Given the description of an element on the screen output the (x, y) to click on. 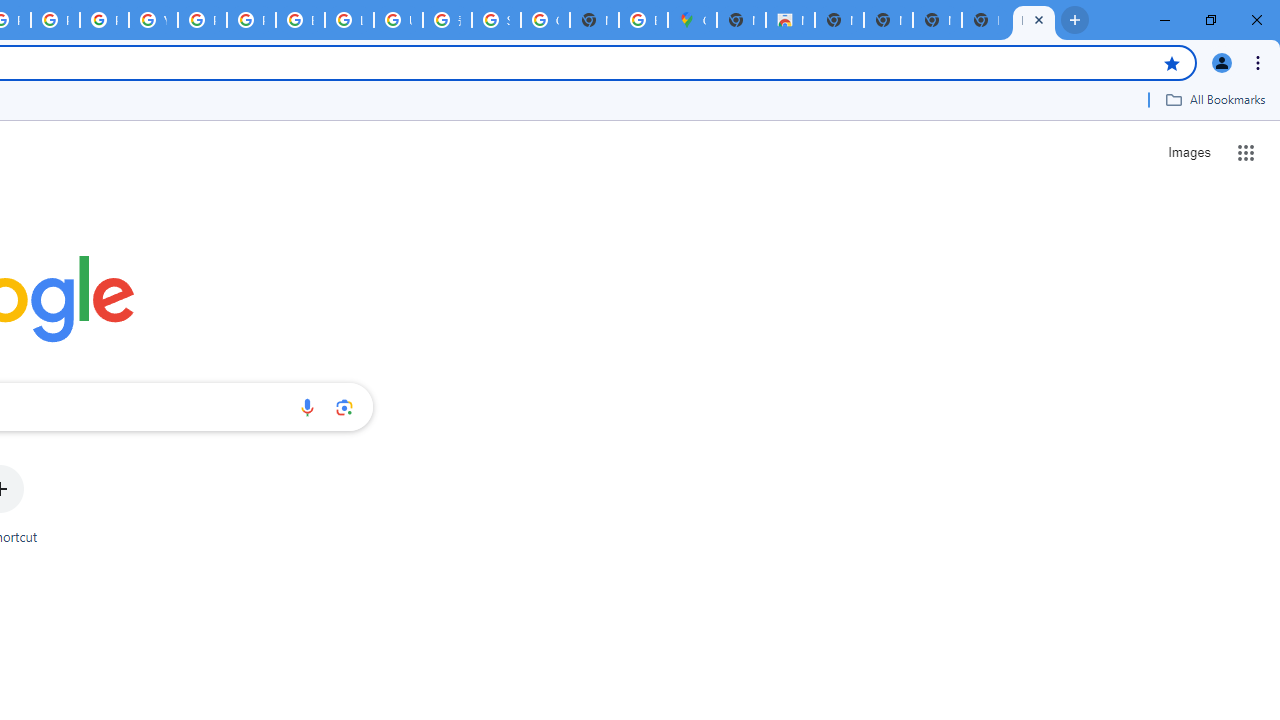
New Tab (985, 20)
Google apps (1245, 152)
Browse Chrome as a guest - Computer - Google Chrome Help (300, 20)
Explore new street-level details - Google Maps Help (643, 20)
New Tab (740, 20)
Sign in - Google Accounts (496, 20)
New Tab (1033, 20)
Search for Images  (1188, 152)
